Given the description of an element on the screen output the (x, y) to click on. 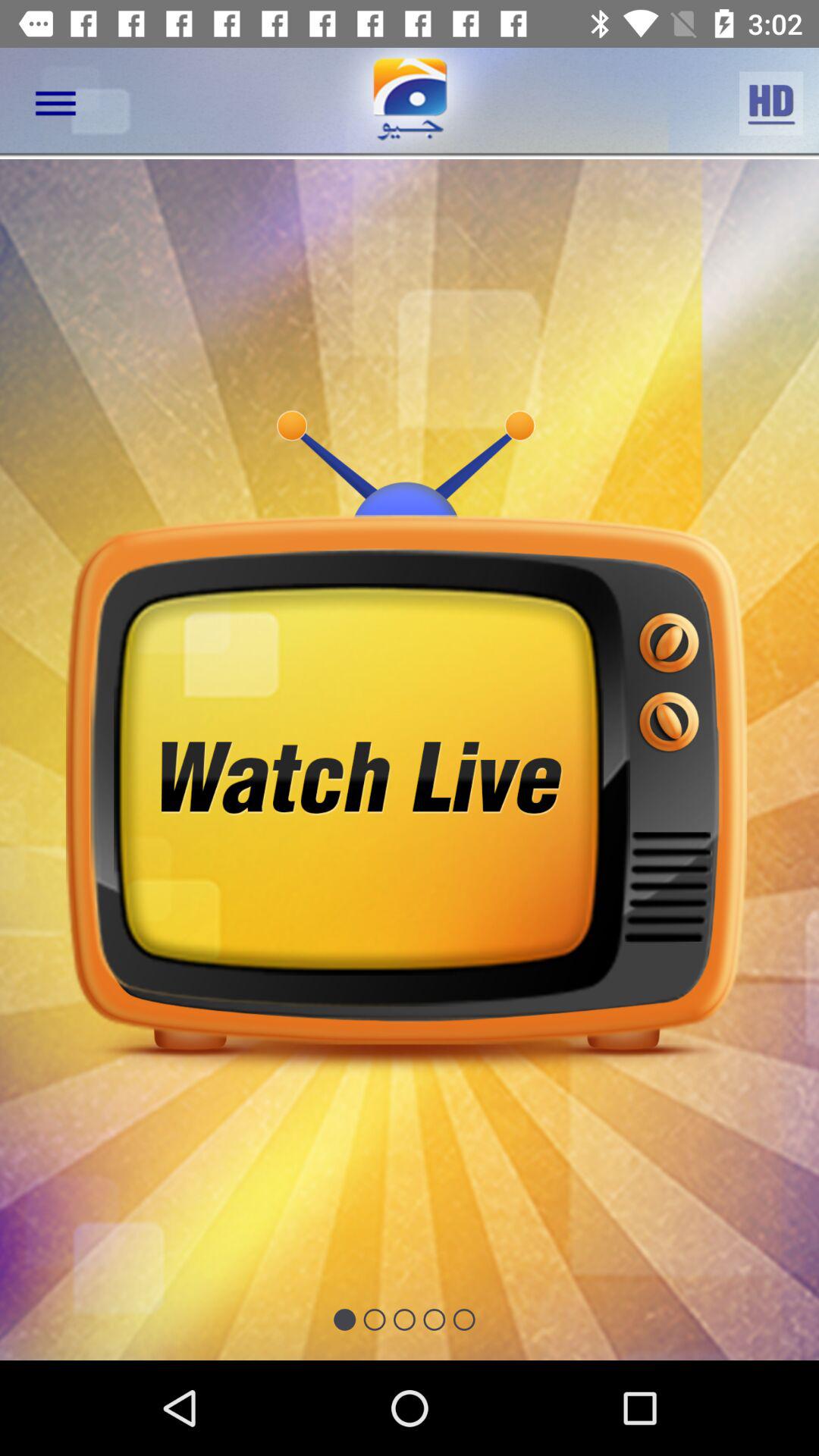
turn on tv (409, 759)
